Given the description of an element on the screen output the (x, y) to click on. 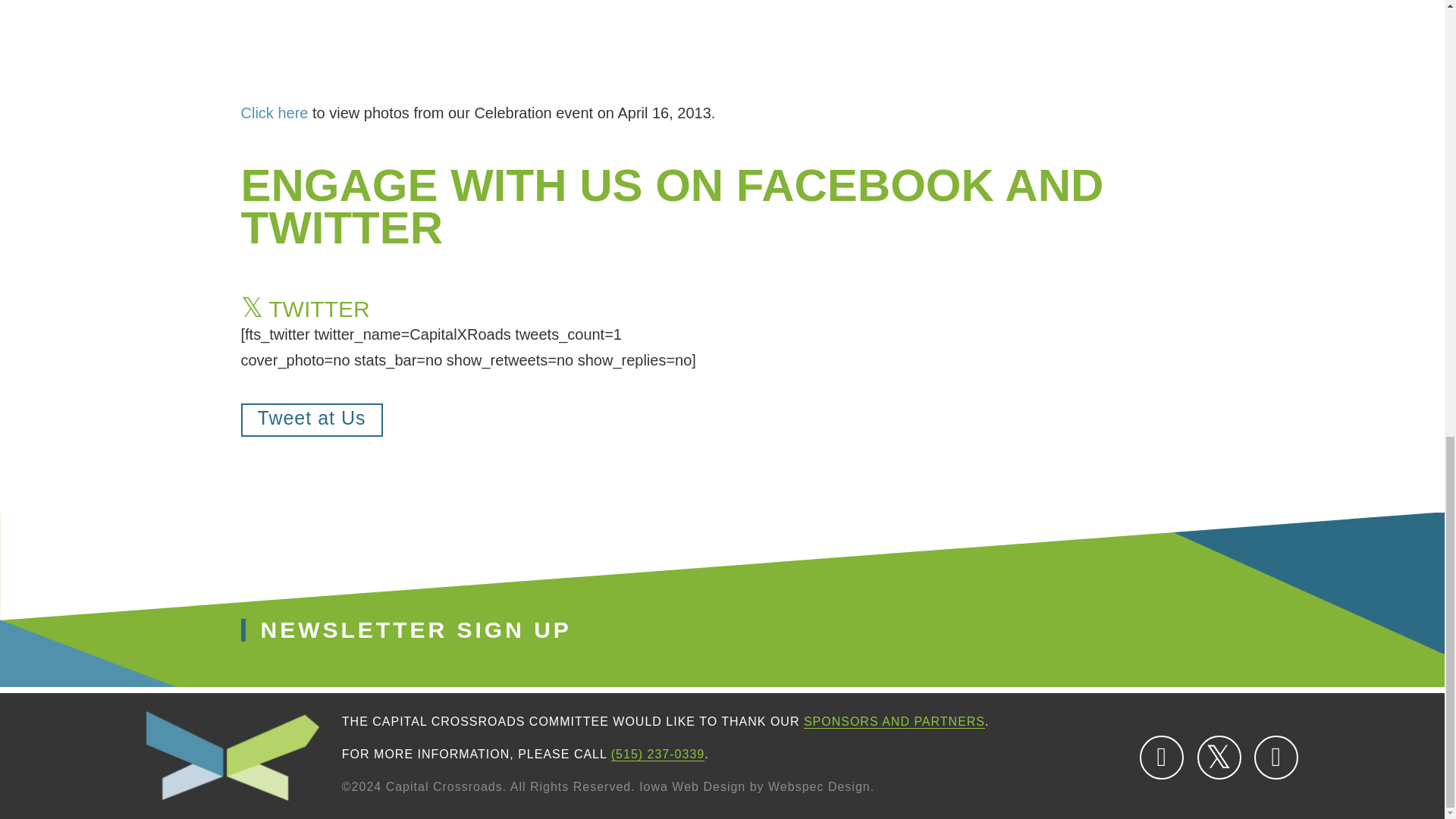
Tweet at Us (311, 419)
FACEBOOK (1161, 757)
Iowa Web Design (692, 786)
TWITTER (1218, 757)
SPONSORS AND PARTNERS (894, 721)
INSTAGRAM (1275, 757)
Click here (274, 112)
